Given the description of an element on the screen output the (x, y) to click on. 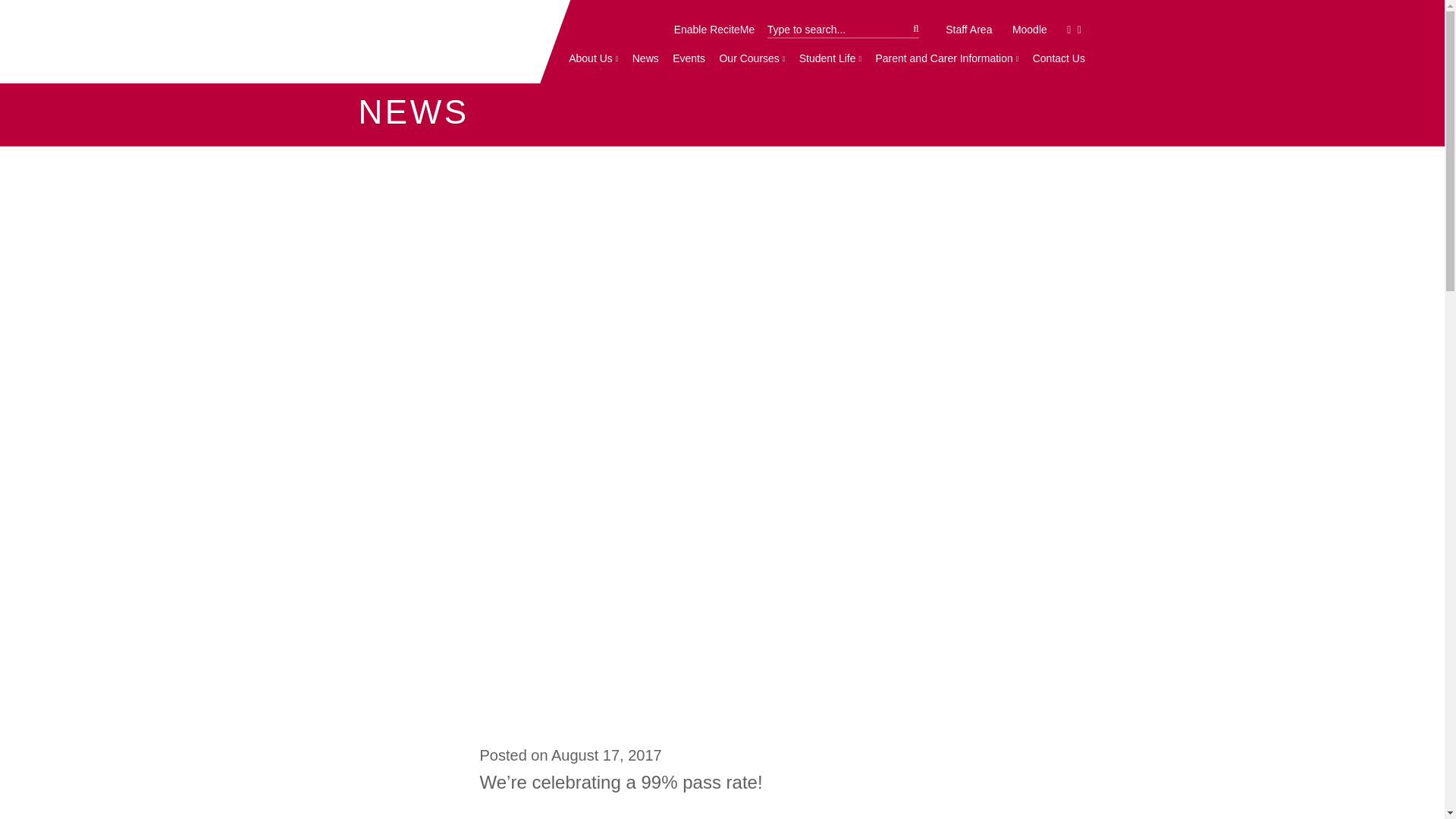
About Us (592, 59)
Search (842, 30)
News (645, 59)
Our Courses (751, 59)
Events (688, 59)
Staff Area (968, 30)
Moodle (1030, 30)
Student Life (829, 59)
